Given the description of an element on the screen output the (x, y) to click on. 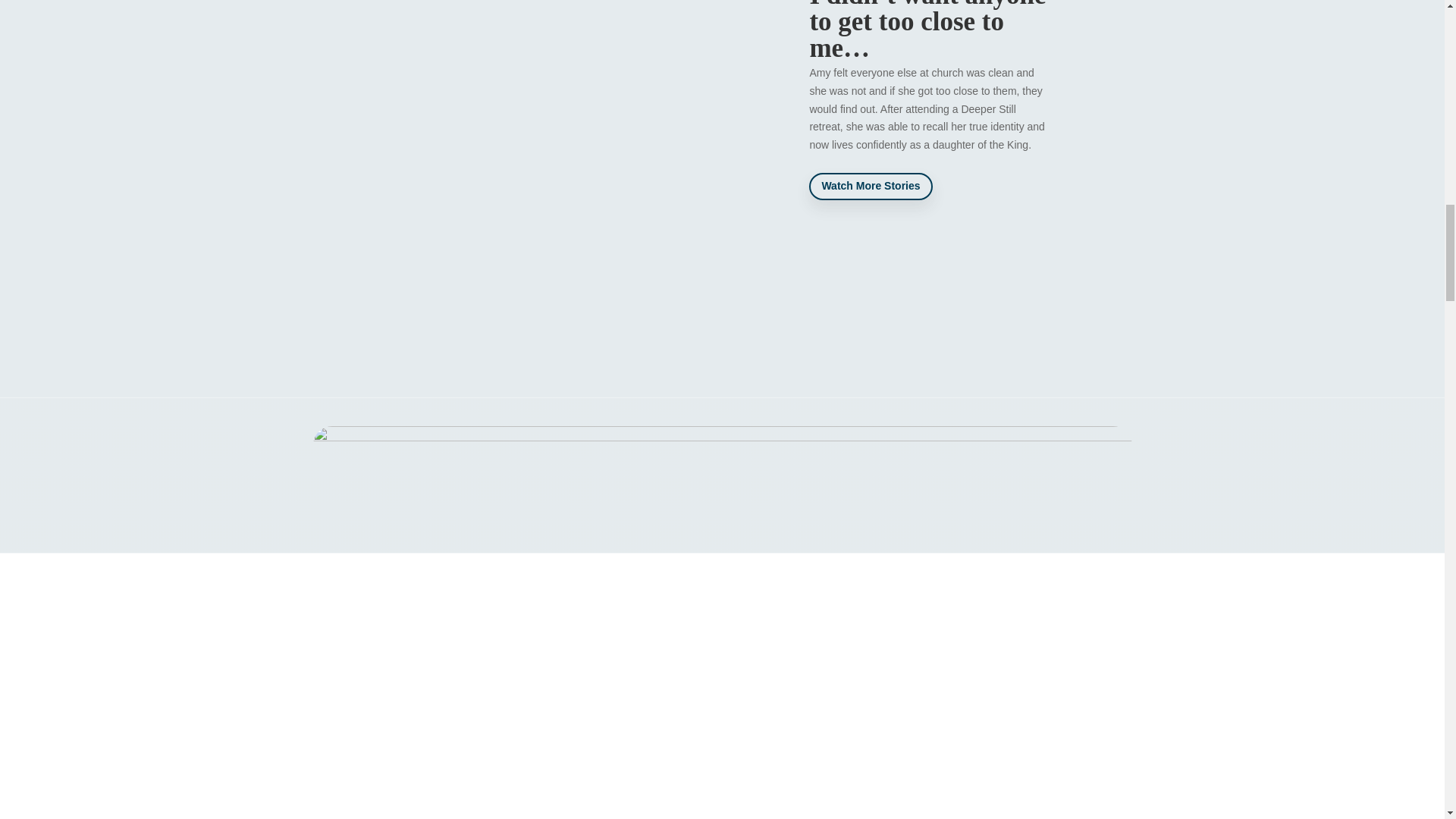
Watch More Stories (870, 185)
Amy HoukQT (583, 113)
